Given the description of an element on the screen output the (x, y) to click on. 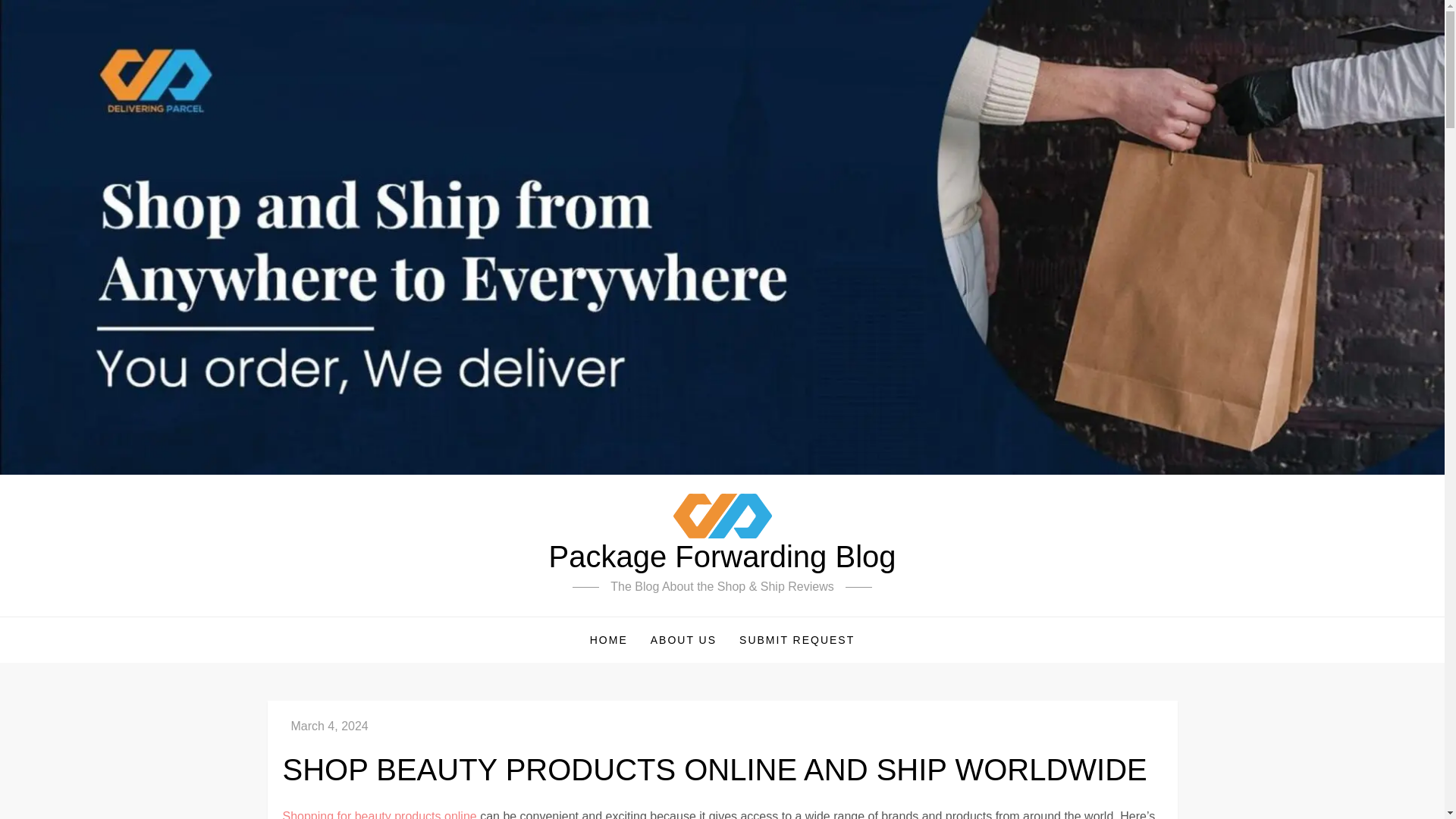
Shopping for beauty products online (379, 814)
ABOUT US (683, 639)
Package Forwarding Blog (721, 556)
SUBMIT REQUEST (797, 639)
HOME (608, 639)
March 4, 2024 (328, 725)
